Given the description of an element on the screen output the (x, y) to click on. 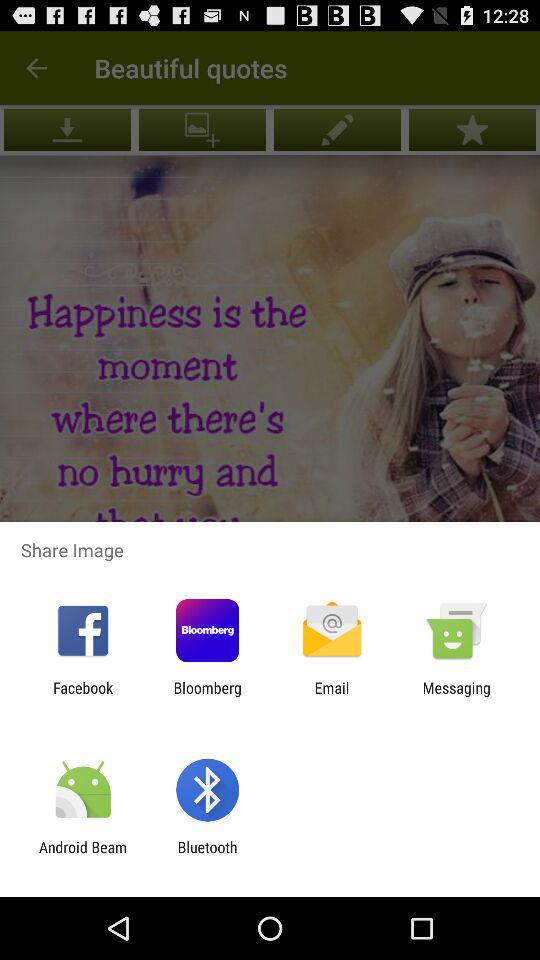
click app next to the bluetooth icon (83, 856)
